Given the description of an element on the screen output the (x, y) to click on. 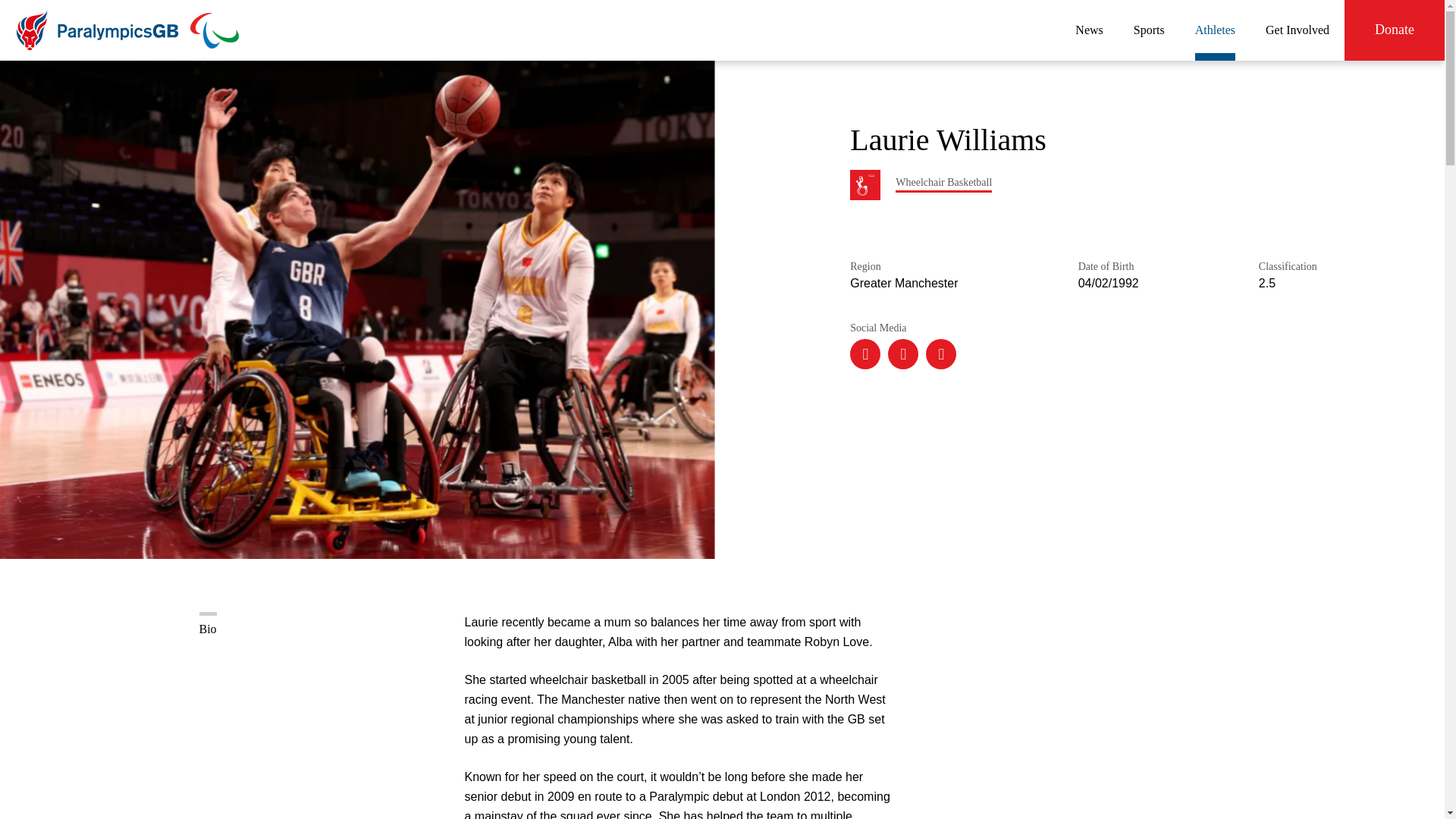
Laurie Williams tiktok (941, 354)
Wheelchair Basketball (943, 182)
Laurie Williams twitter (903, 354)
Get Involved (1297, 30)
Laurie Williams instagram (865, 354)
